Given the description of an element on the screen output the (x, y) to click on. 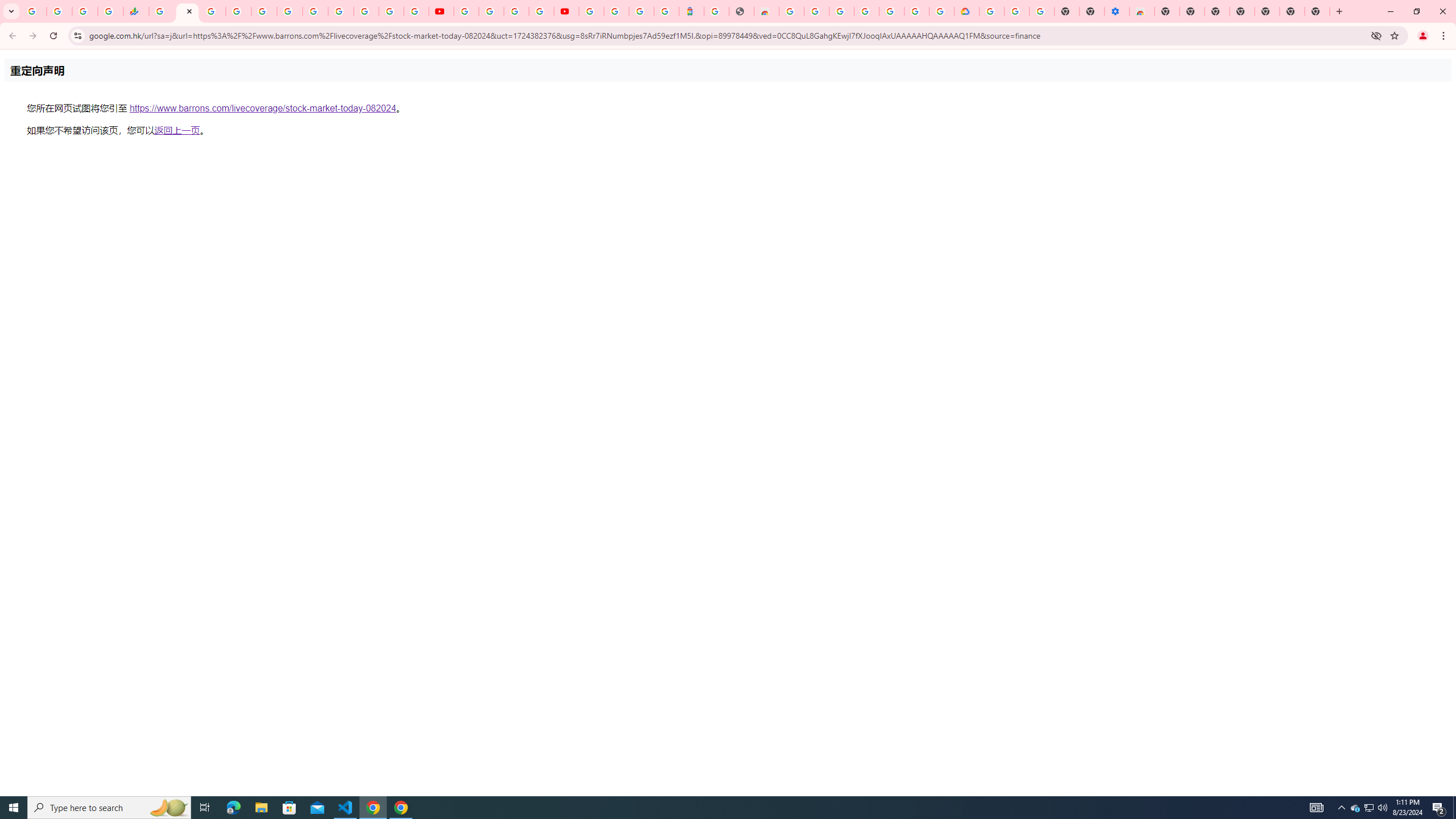
Android TV Policies and Guidelines - Transparency Center (315, 11)
Chrome Web Store - Household (766, 11)
YouTube (340, 11)
Sign in - Google Accounts (590, 11)
Google Account Help (491, 11)
